Given the description of an element on the screen output the (x, y) to click on. 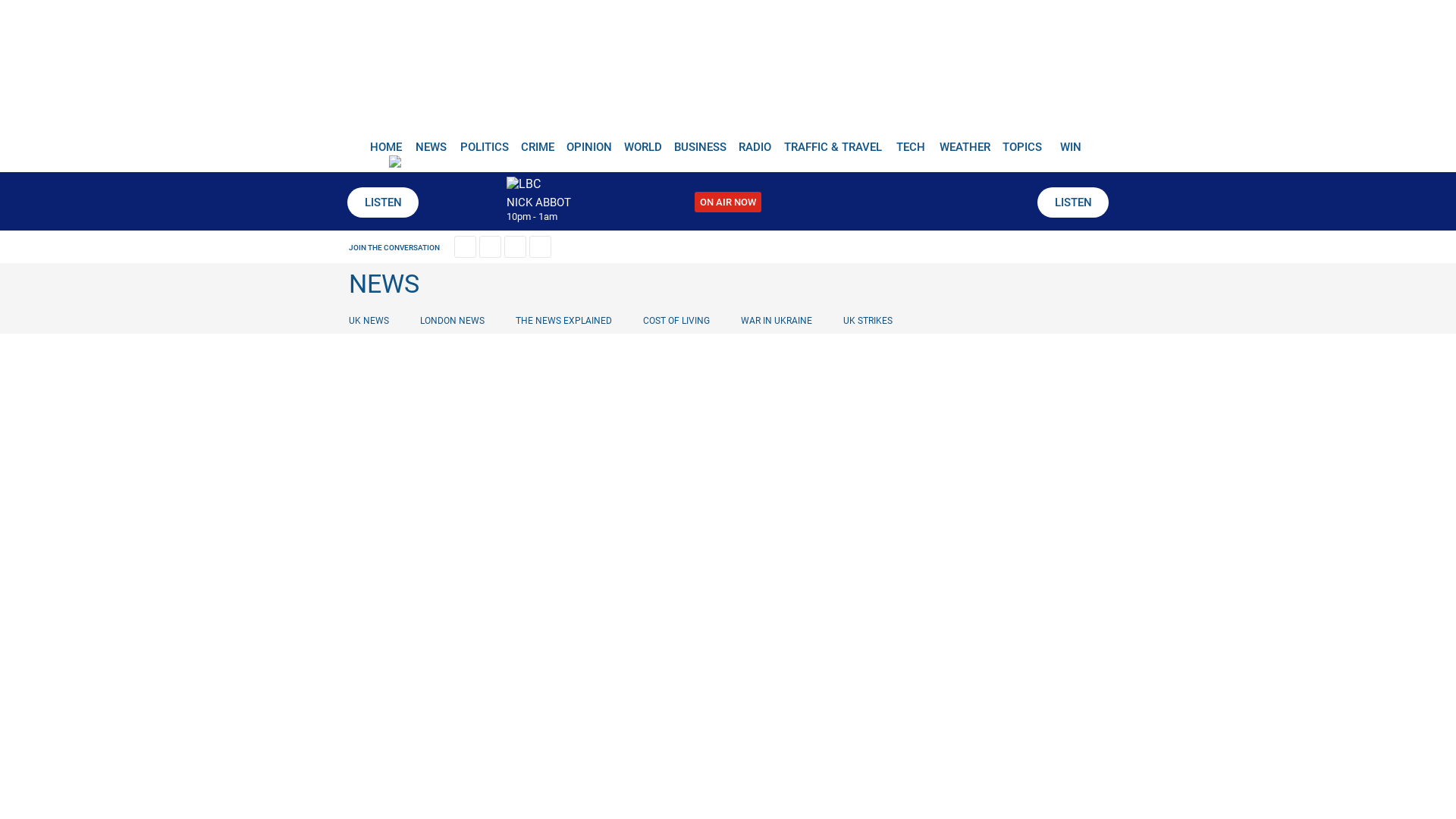
BUSINESS (699, 140)
UK NEWS (372, 320)
THE NEWS EXPLAINED (563, 320)
POLITICS (482, 140)
LISTEN (1072, 202)
WIN (1070, 140)
RADIO (754, 140)
HOME (384, 140)
UK STRIKES (867, 320)
CRIME (536, 140)
